Given the description of an element on the screen output the (x, y) to click on. 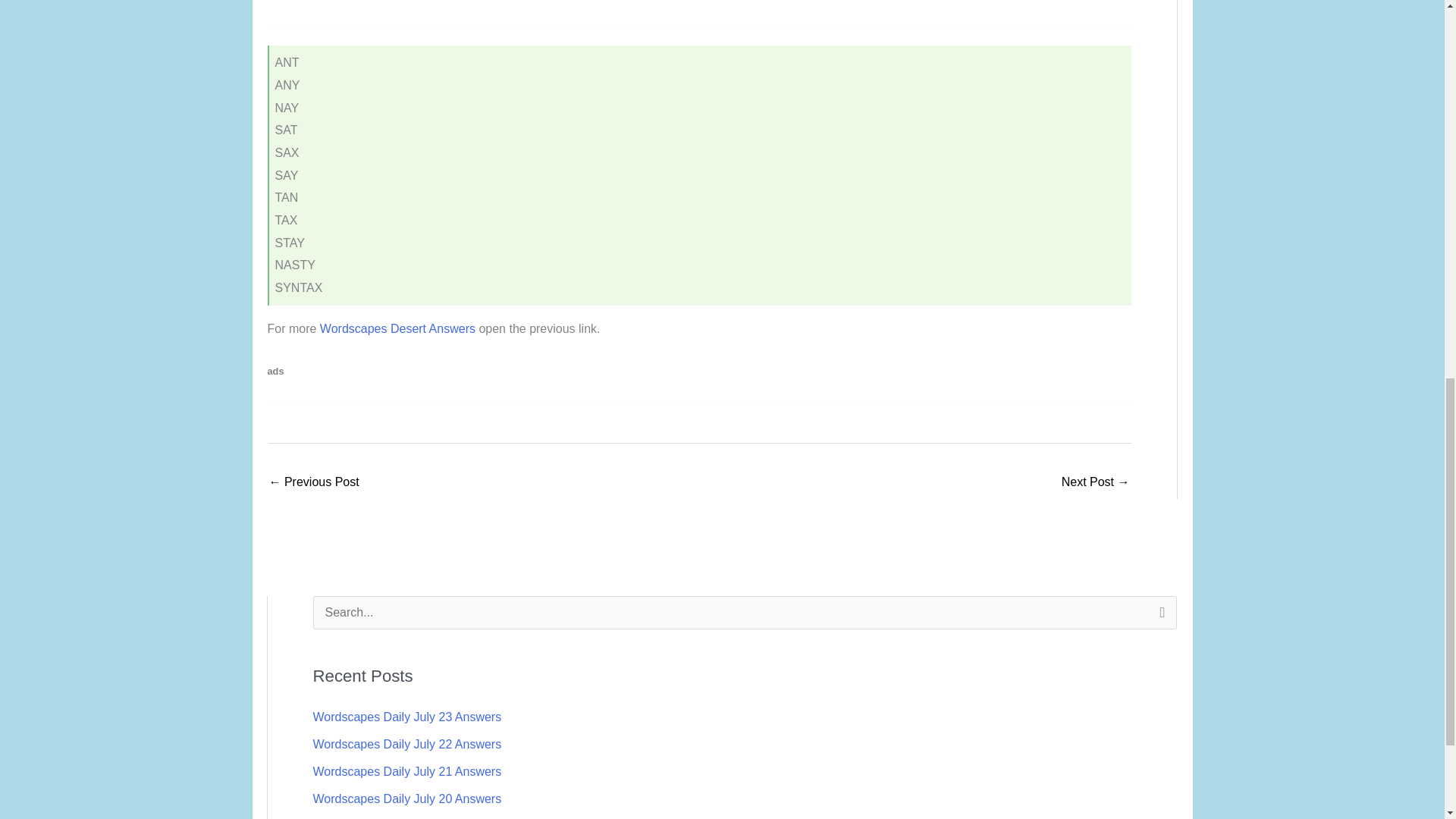
Wordscapes 757 Answers Desert Sierra 5 (1095, 483)
Wordscapes Daily July 20 Answers (406, 798)
Search (1158, 617)
Wordscapes Desert Answers (398, 328)
Wordscapes Daily July 23 Answers (406, 716)
Advertisement (393, 9)
Search (1158, 617)
Wordscapes 775 Answers Desert Dune 7 (312, 483)
Wordscapes Daily July 21 Answers (406, 771)
Search (1158, 617)
Wordscapes Daily July 22 Answers (406, 744)
